Given the description of an element on the screen output the (x, y) to click on. 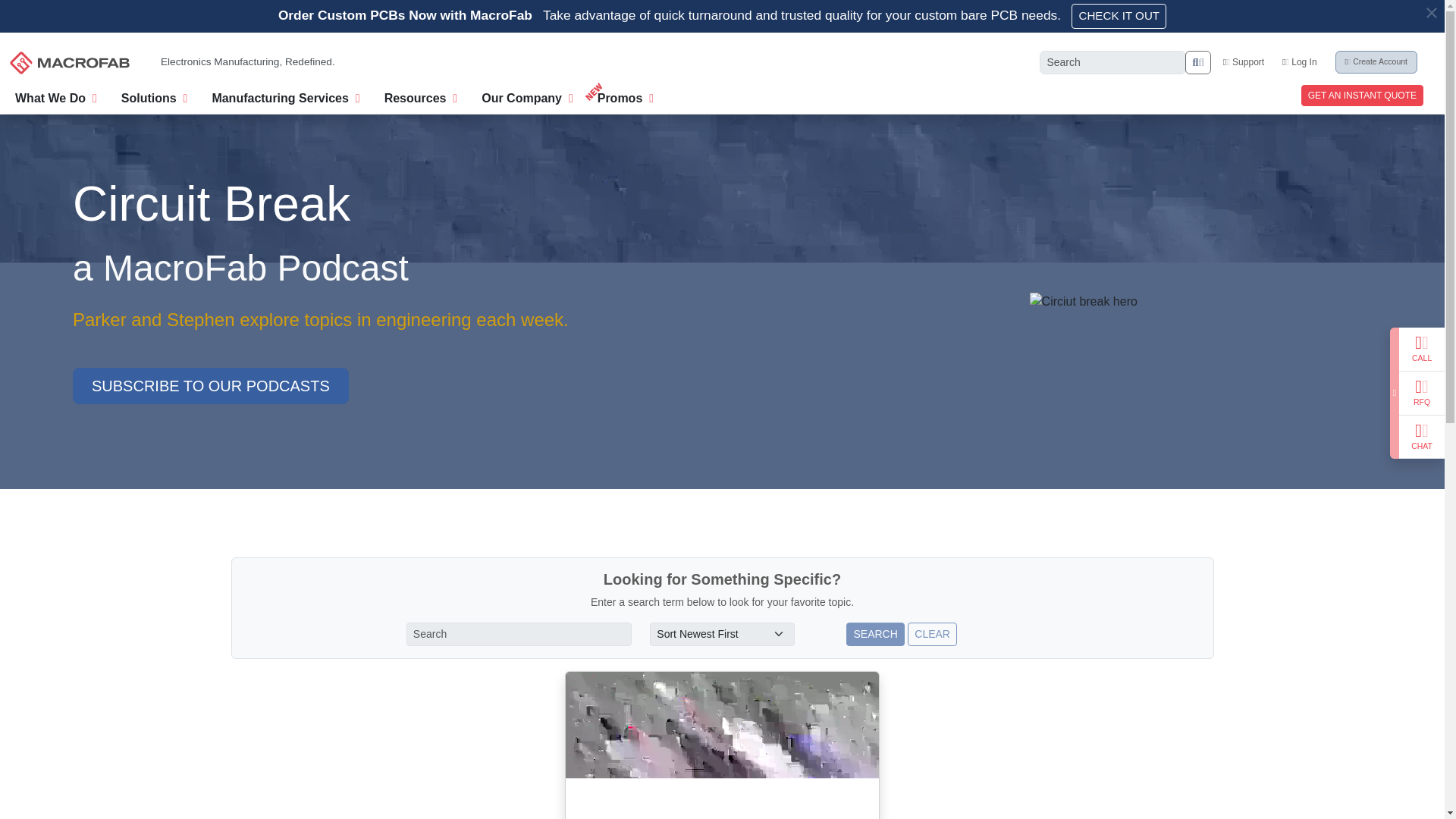
CHECK IT OUT (1118, 16)
Solutions   (154, 95)
 Support (1243, 61)
What We Do   (55, 95)
 Log In (1299, 61)
 Create Account (1375, 61)
